Given the description of an element on the screen output the (x, y) to click on. 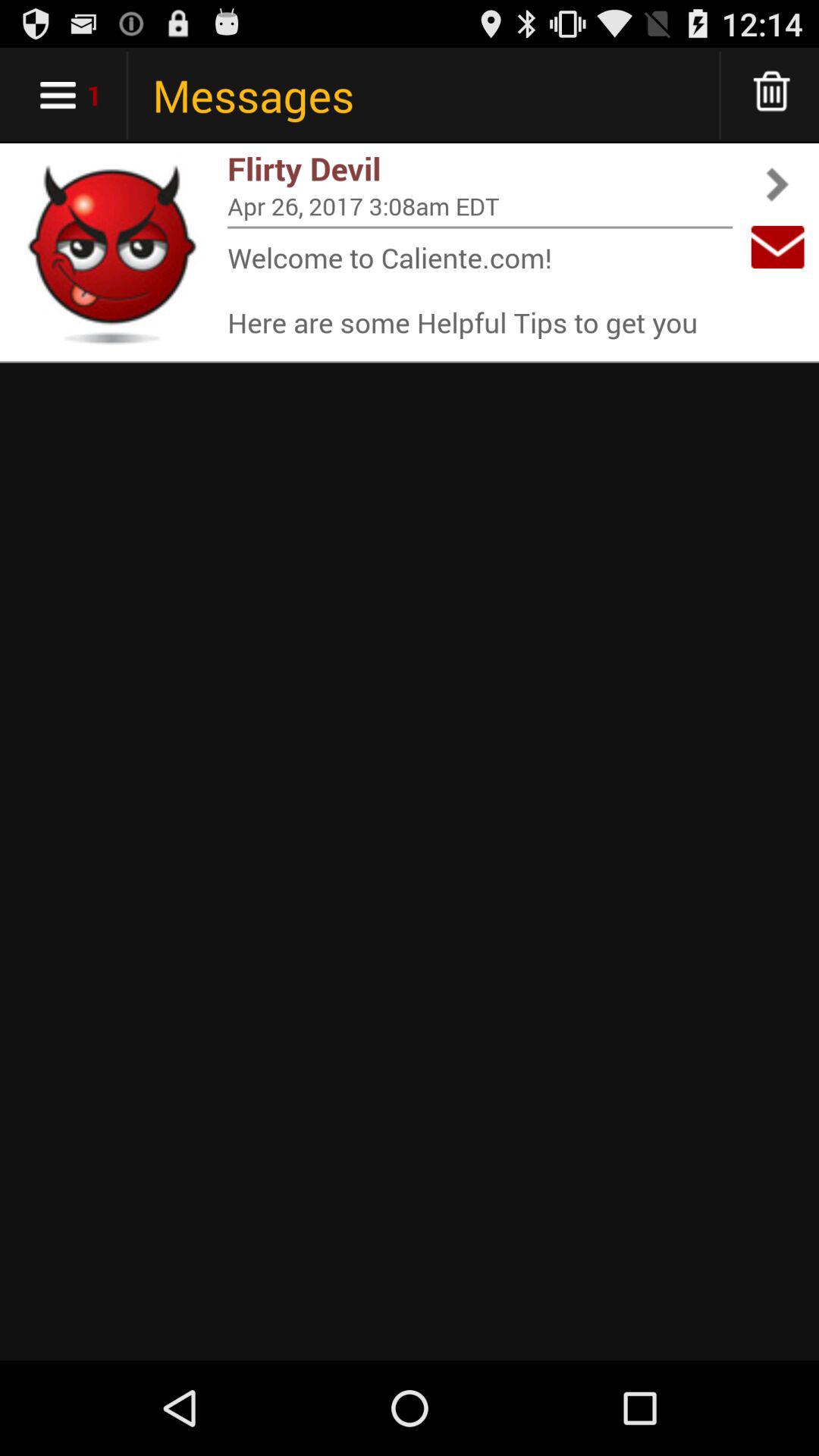
press the icon above the welcome to caliente item (479, 227)
